Given the description of an element on the screen output the (x, y) to click on. 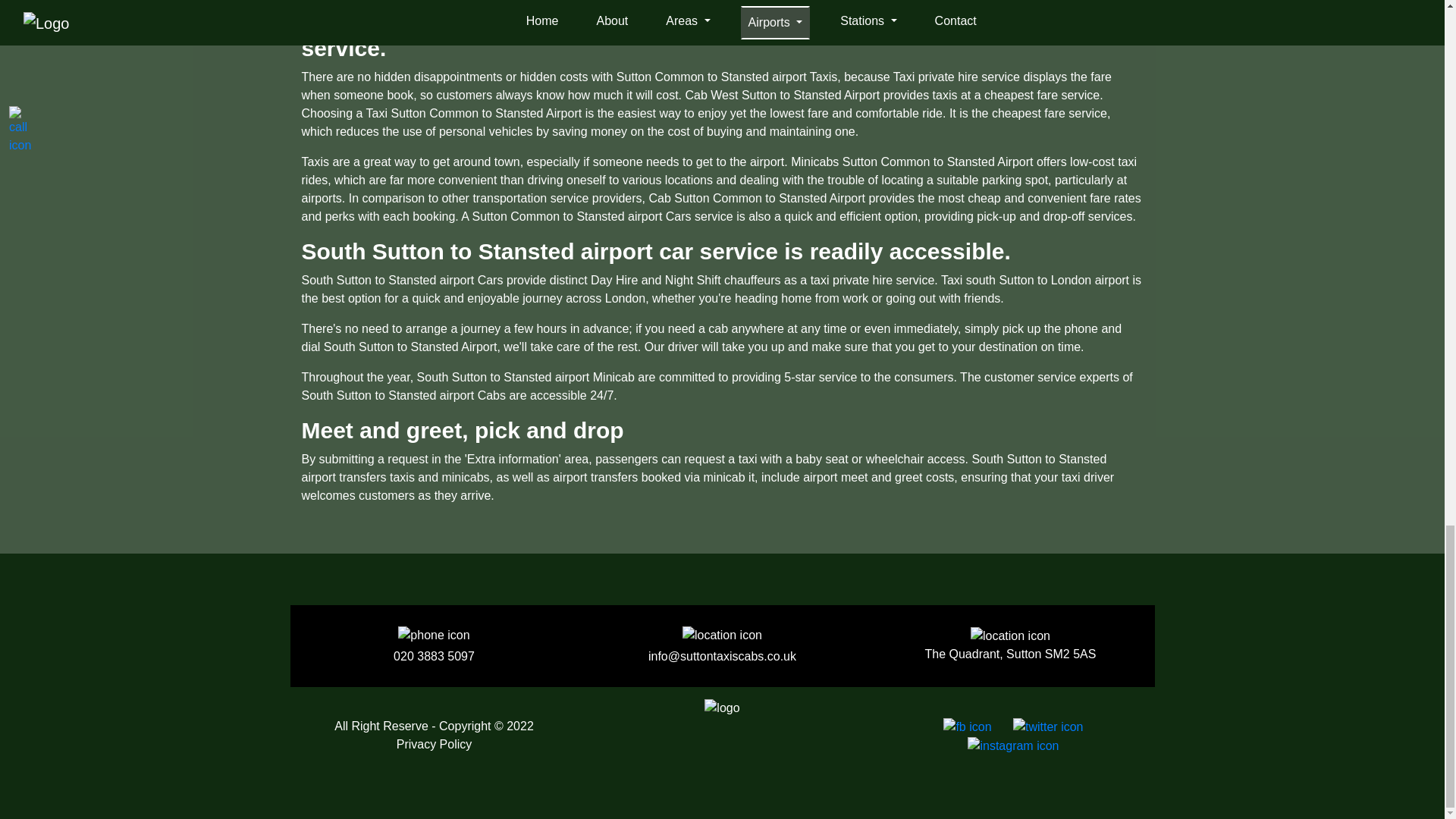
Instagram (1009, 744)
Twitter (1045, 725)
Facebook (964, 725)
